Given the description of an element on the screen output the (x, y) to click on. 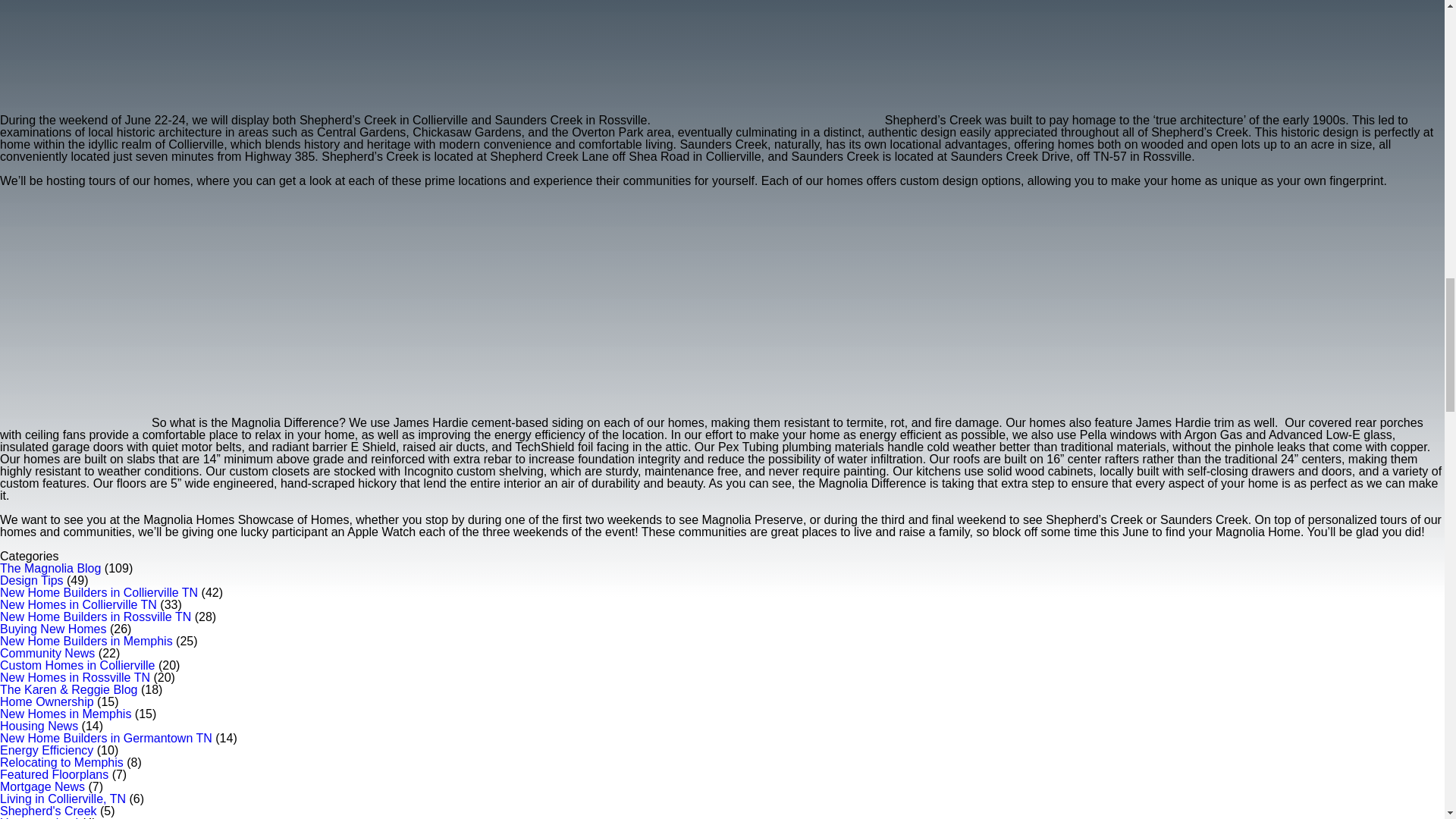
Home Ownership (47, 701)
Relocating to Memphis (61, 762)
Energy Efficiency (46, 749)
Design Tips (32, 580)
Community News (47, 653)
New Homes in Rossville TN (74, 676)
New Home Builders in Collierville TN (99, 592)
Custom Homes in Collierville (77, 665)
New Home Builders in Germantown TN (106, 738)
New Home Builders in Memphis (86, 640)
